Given the description of an element on the screen output the (x, y) to click on. 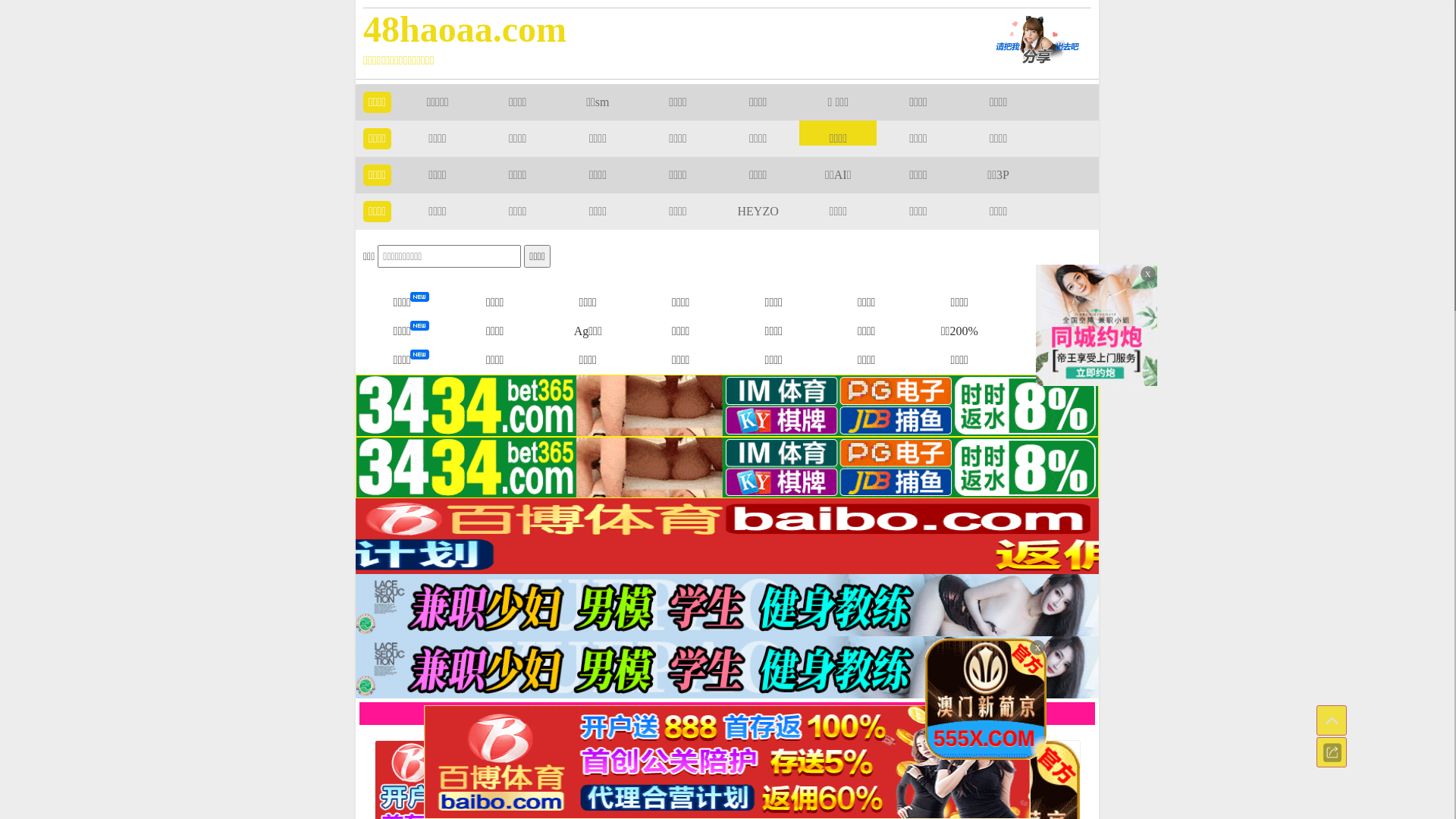
48haoaa.com Element type: text (654, 29)
HEYZO Element type: text (757, 210)
